Given the description of an element on the screen output the (x, y) to click on. 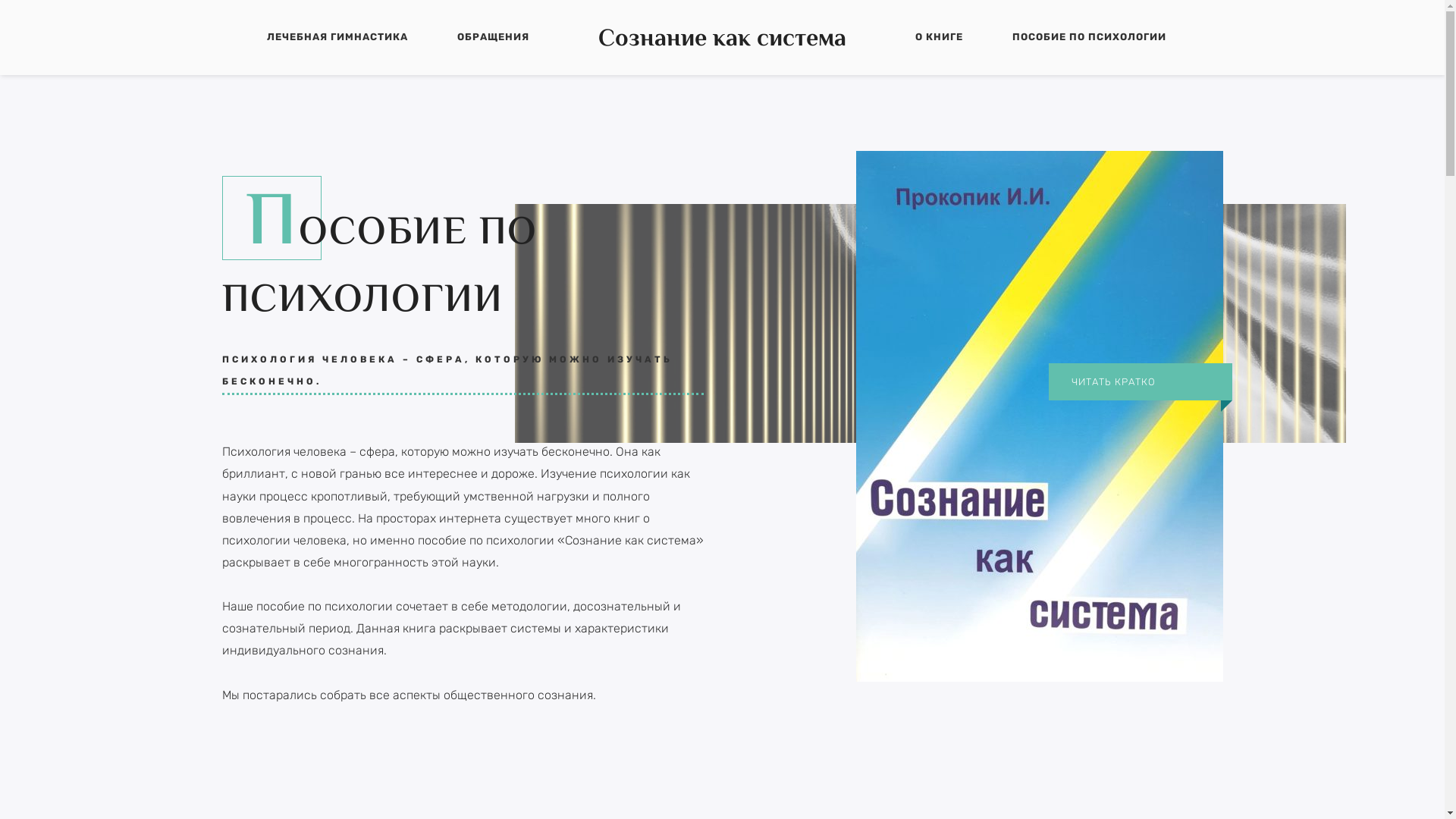
neman2008@mail.ru Element type: text (1058, 622)
